Given the description of an element on the screen output the (x, y) to click on. 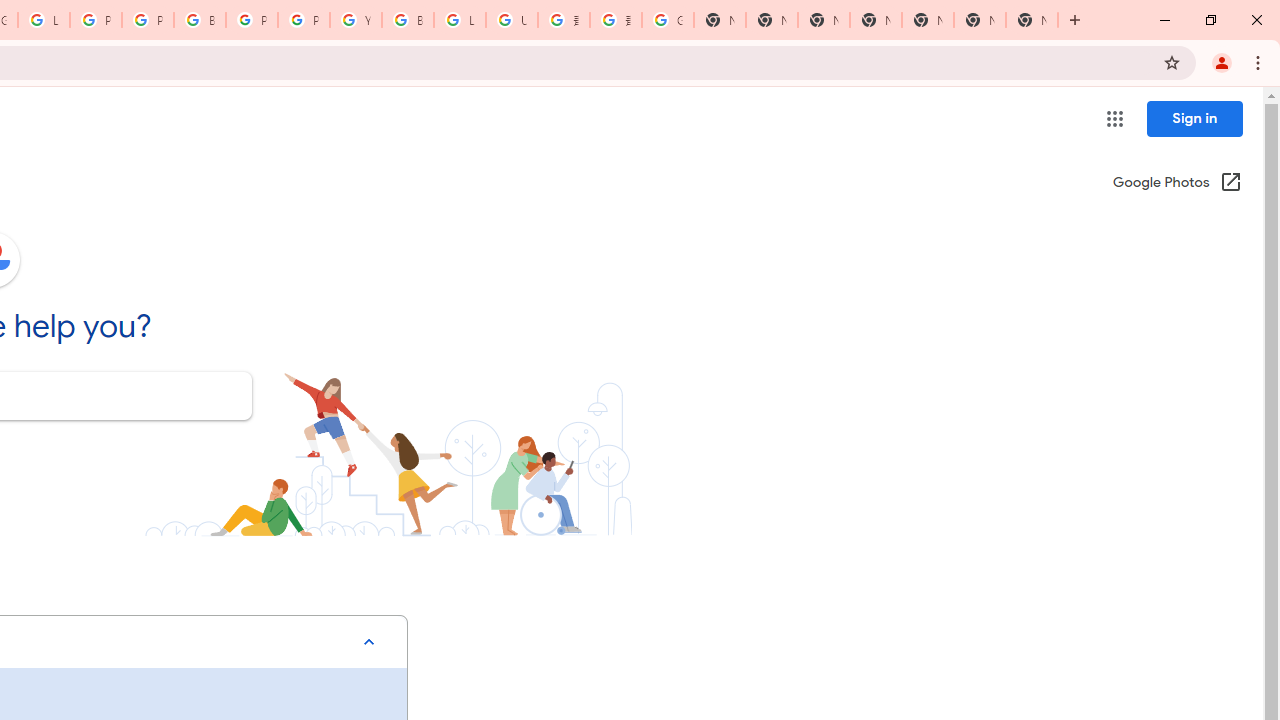
YouTube (355, 20)
Google Images (667, 20)
New Tab (875, 20)
